Given the description of an element on the screen output the (x, y) to click on. 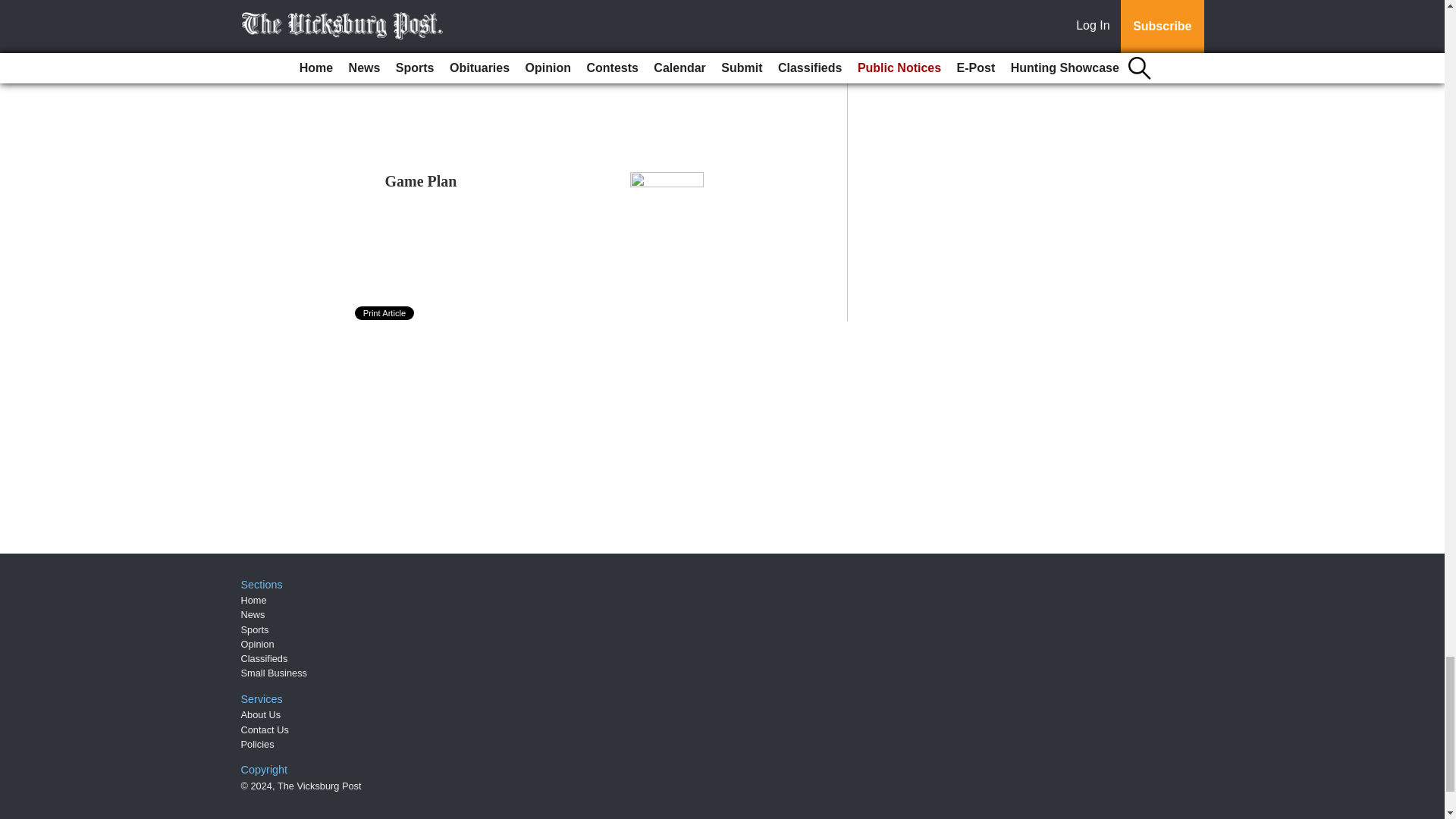
VWSD board approves clear bag policy for all athletic events (491, 55)
VWSD board approves clear bag policy for all athletic events (491, 55)
Game Plan (421, 180)
